Given the description of an element on the screen output the (x, y) to click on. 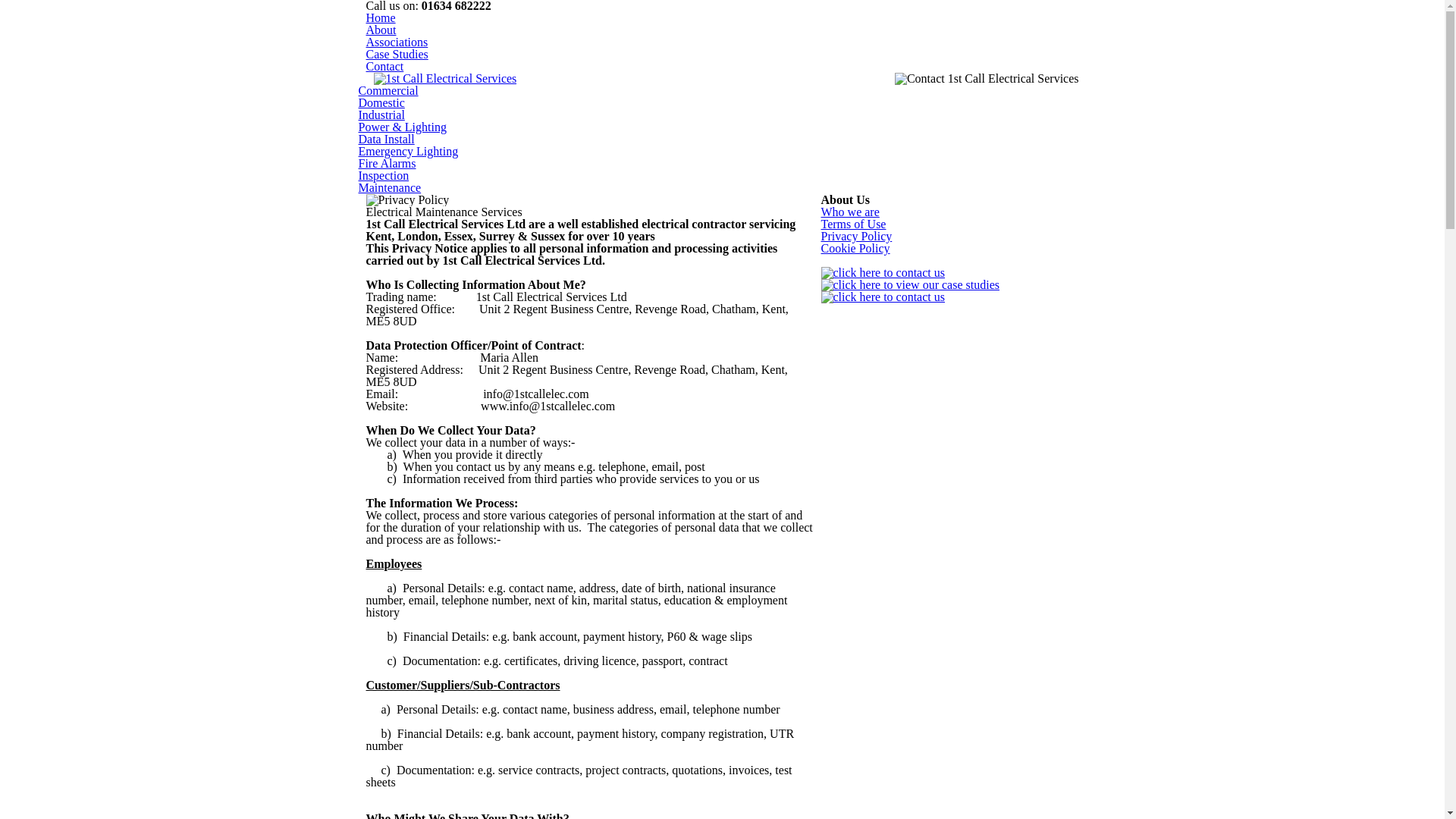
Commercial Element type: text (387, 90)
Emergency Lighting Element type: text (407, 150)
Areas covered - contact us for more info Element type: hover (882, 296)
Case Studies Element type: text (396, 53)
Inspection Element type: text (382, 175)
Cookie Policy Element type: text (854, 247)
About Element type: text (380, 29)
View our case studies Element type: hover (909, 284)
Industrial Element type: text (380, 114)
FREE site survey - contact us for more info Element type: hover (882, 272)
Who we are Element type: text (849, 211)
Fire Alarms Element type: text (386, 162)
Contact Element type: text (384, 65)
Home Element type: text (380, 17)
Domestic Element type: text (380, 102)
Privacy Policy Element type: text (855, 235)
Back to Home Element type: hover (444, 78)
Power & Lighting Element type: text (401, 126)
Terms of Use Element type: text (852, 223)
Maintenance Element type: text (388, 187)
Data Install Element type: text (385, 138)
Associations Element type: text (396, 41)
